Given the description of an element on the screen output the (x, y) to click on. 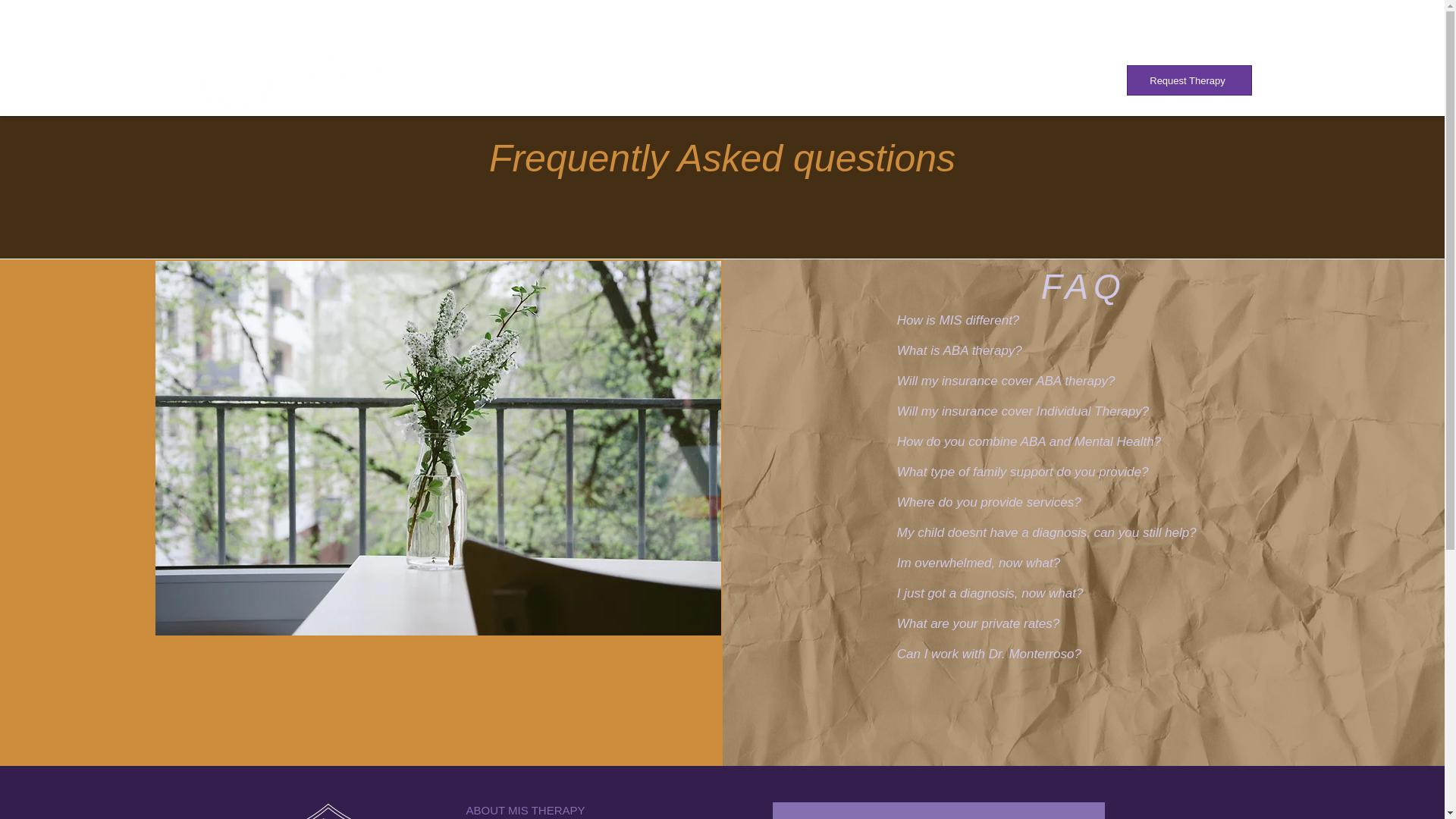
ABOUT MIS THERAPY (525, 809)
SERVICES (763, 80)
MEET THE TEAM (511, 817)
HOME (587, 80)
RESOURCES (865, 80)
Request Therapy (1189, 80)
CONTACT US (974, 80)
BLOG (1065, 80)
MIS TEAM (670, 80)
